Given the description of an element on the screen output the (x, y) to click on. 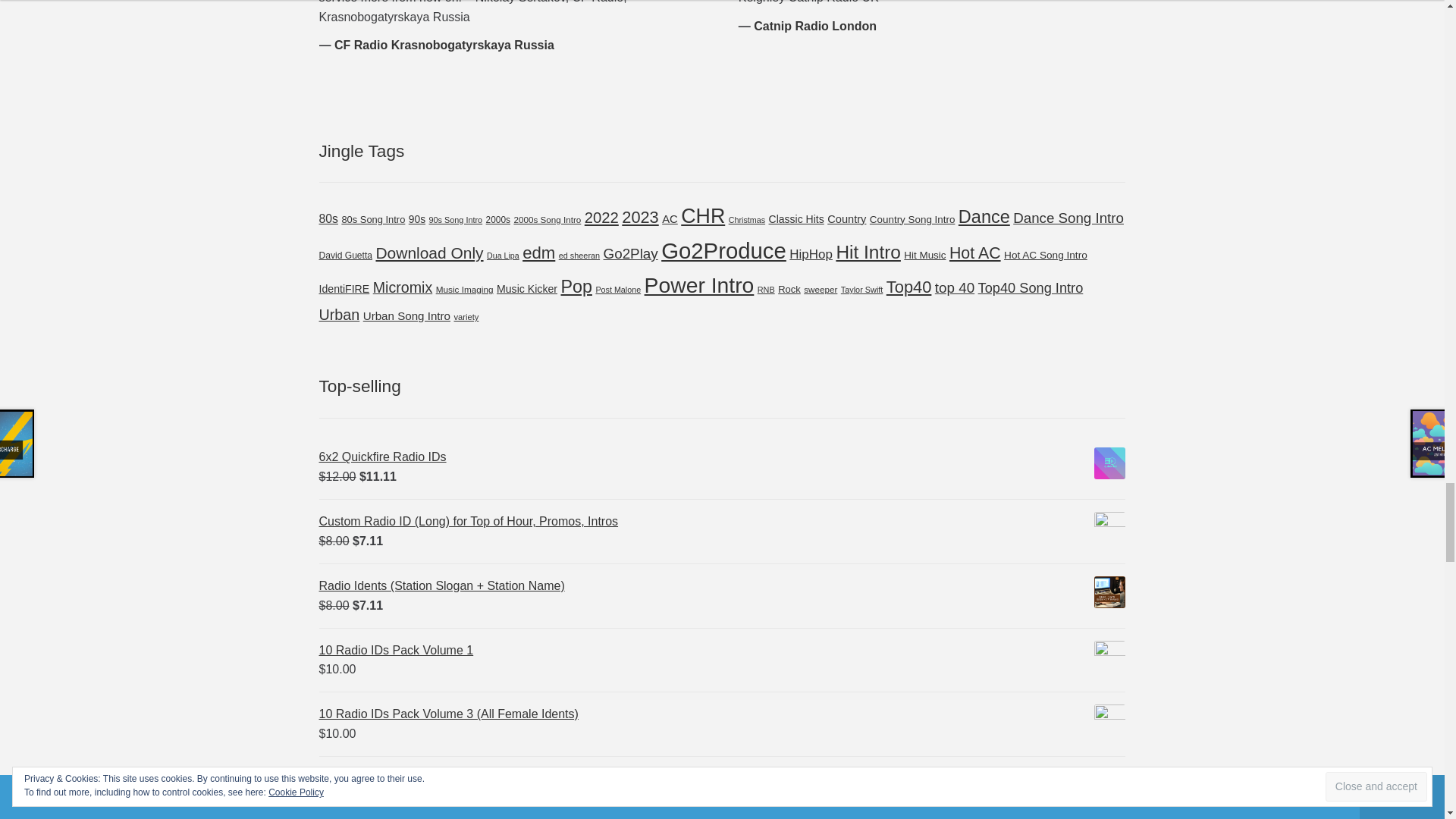
Catnip Radio London (815, 25)
CF Radio Krasnobogatyrskaya Russia (444, 44)
